Given the description of an element on the screen output the (x, y) to click on. 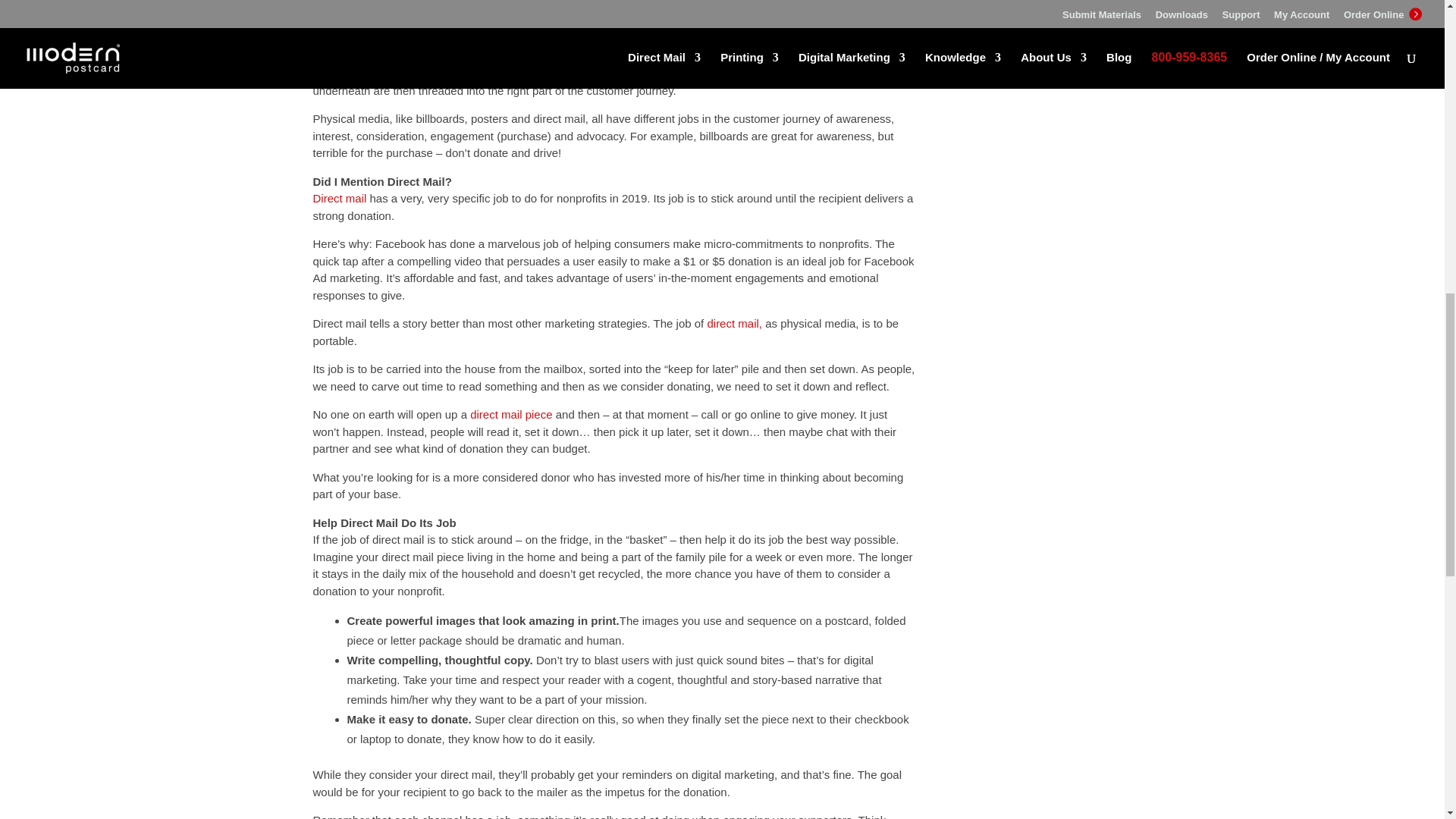
REGISTER NOW (1036, 4)
